Given the description of an element on the screen output the (x, y) to click on. 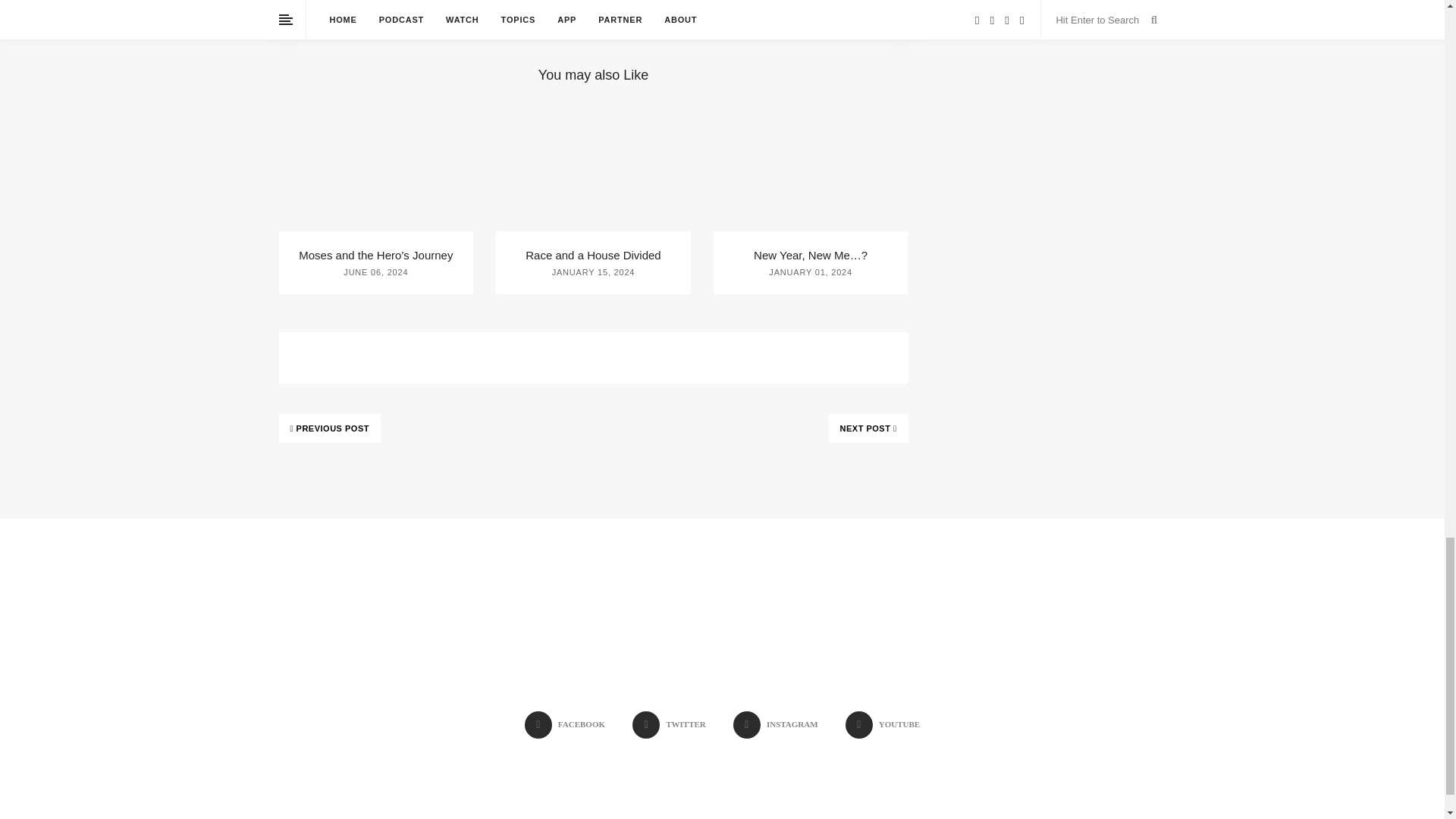
Link to Race and a House Divided (593, 254)
